Given the description of an element on the screen output the (x, y) to click on. 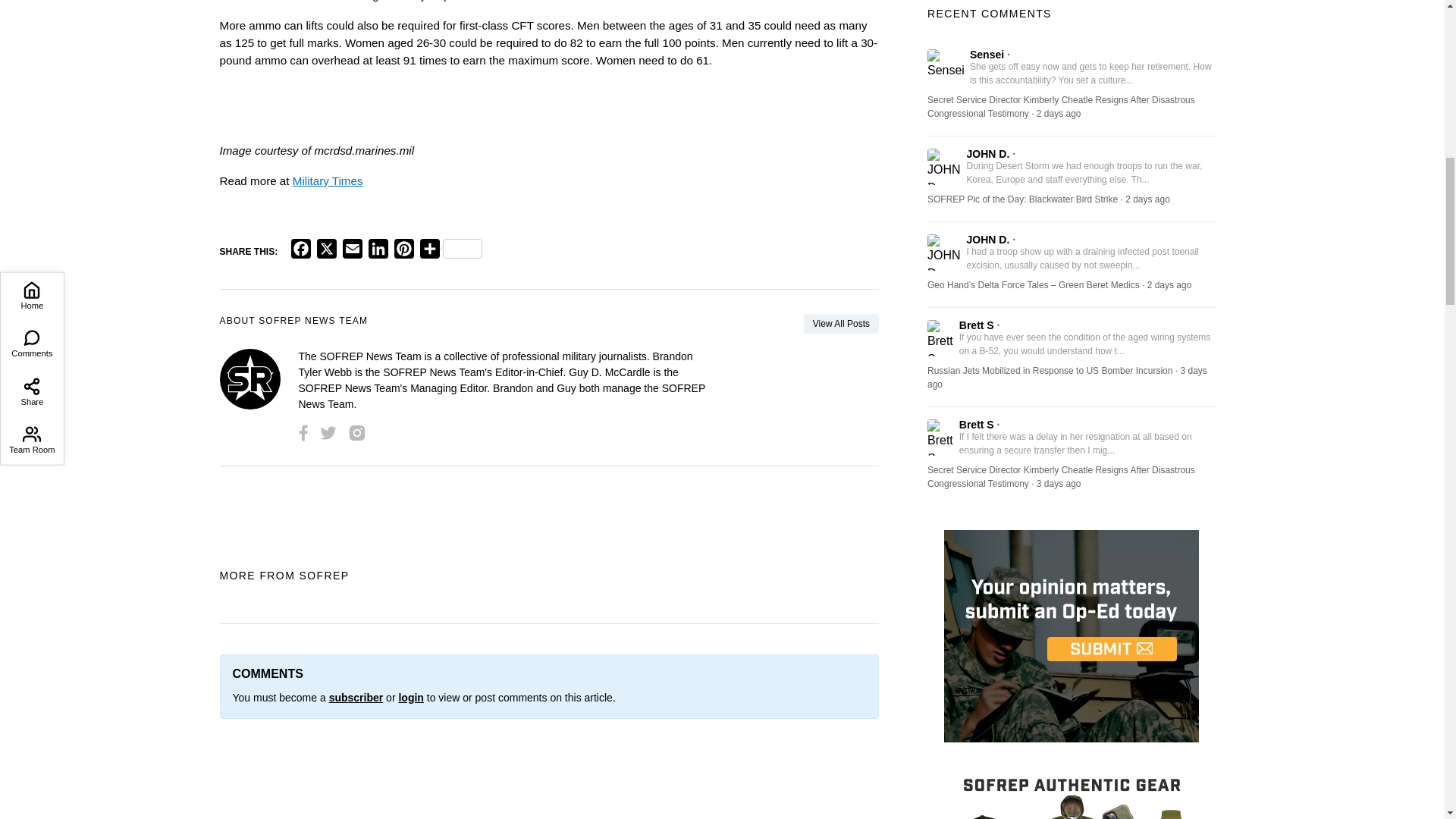
mcrdsd.marines.mil (363, 150)
